Given the description of an element on the screen output the (x, y) to click on. 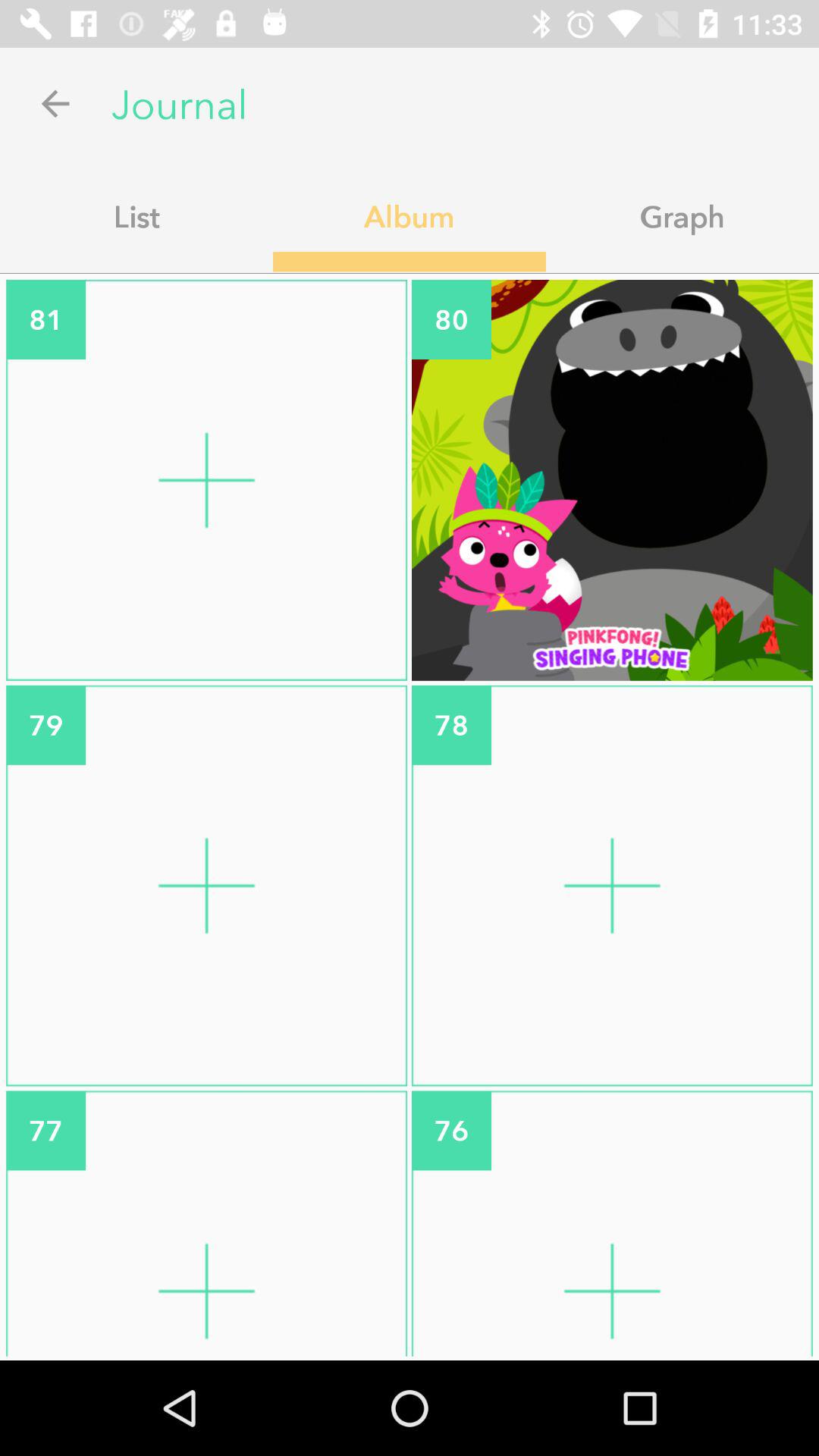
launch album icon (409, 216)
